Given the description of an element on the screen output the (x, y) to click on. 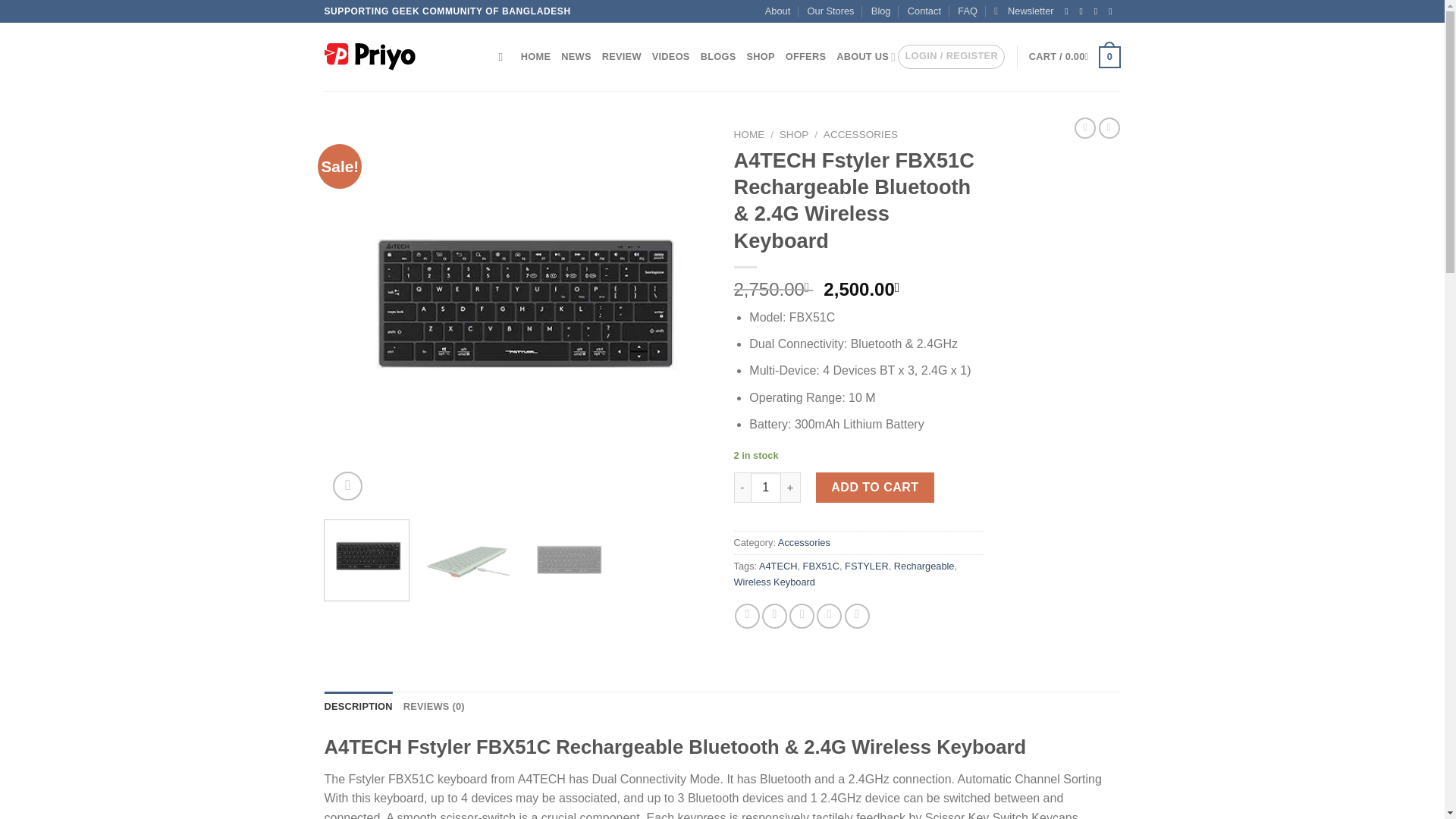
Sign up for Newsletter (1023, 11)
REVIEW (622, 56)
OFFERS (805, 56)
SHOP (759, 56)
VIDEOS (671, 56)
Cart (1075, 57)
BLOGS (718, 56)
HOME (535, 56)
ABOUT US (865, 56)
Zoom (347, 486)
About (777, 11)
Qty (765, 487)
Our Stores (831, 11)
PriyoTech - Technology News, Blogs and Products! (400, 56)
